Given the description of an element on the screen output the (x, y) to click on. 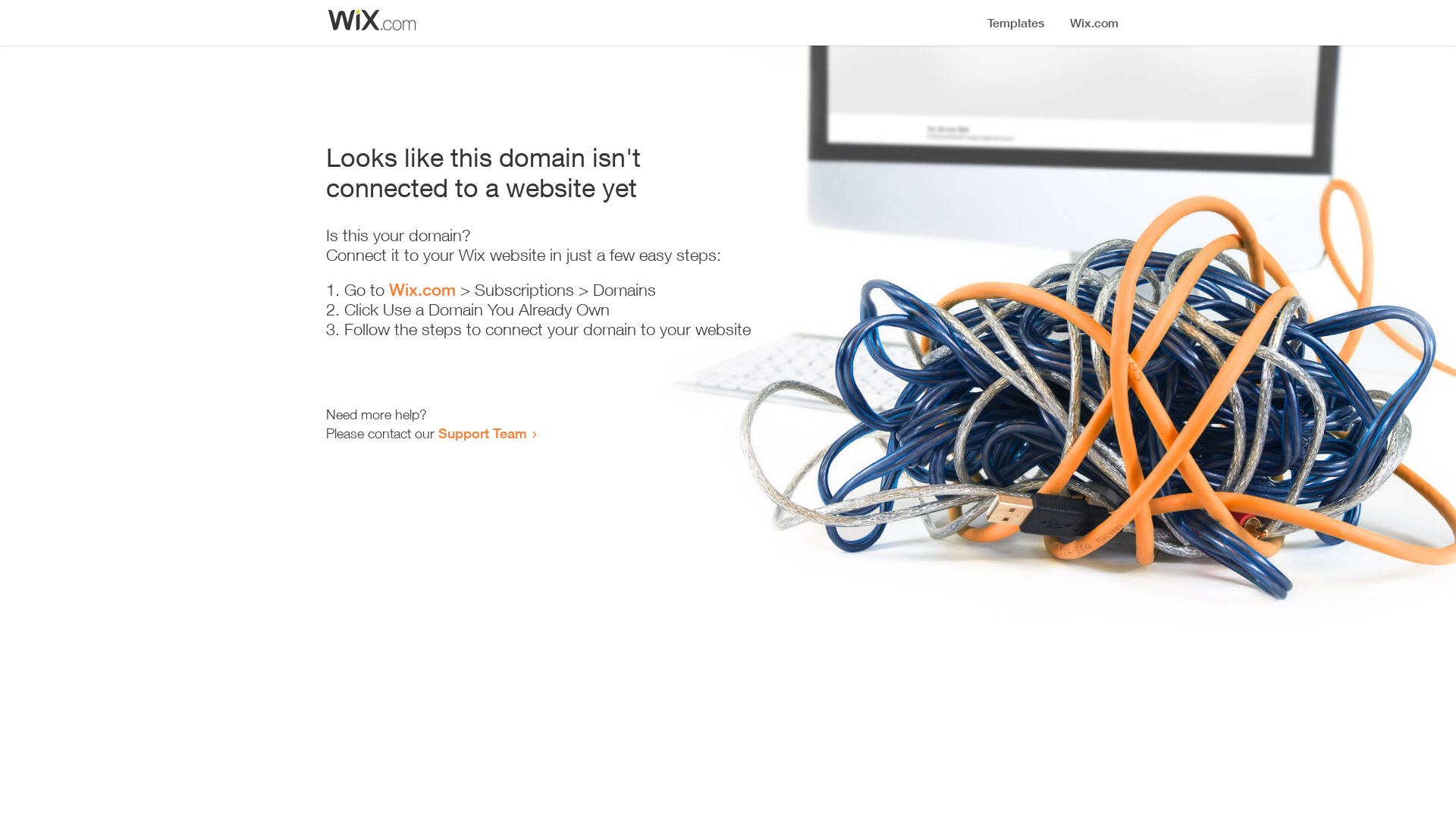
Support Team Element type: text (482, 432)
Wix.com Element type: text (422, 289)
